Given the description of an element on the screen output the (x, y) to click on. 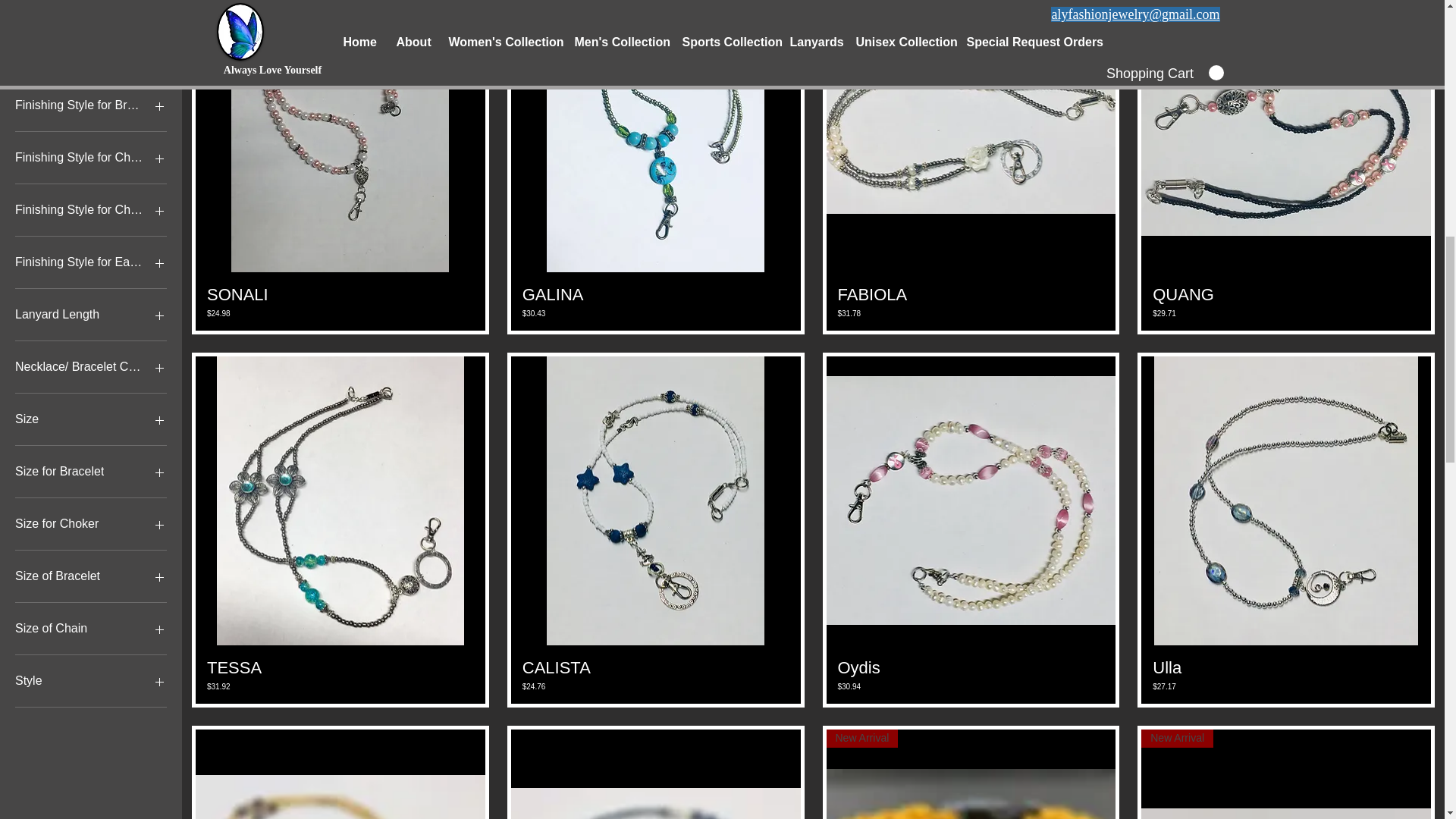
Finishing Style (90, 52)
Size (90, 418)
Finishing Style for Earrings (90, 261)
Lanyard Length (90, 314)
Size for Bracelet (90, 471)
Size of Chain (90, 628)
Size of Bracelet (90, 576)
Size for Choker (90, 523)
Finishing Style for Chain (90, 157)
Finishing Style for Bracelet (90, 105)
Finishing Style for Choker (90, 209)
Color of Bracelet (90, 5)
